Given the description of an element on the screen output the (x, y) to click on. 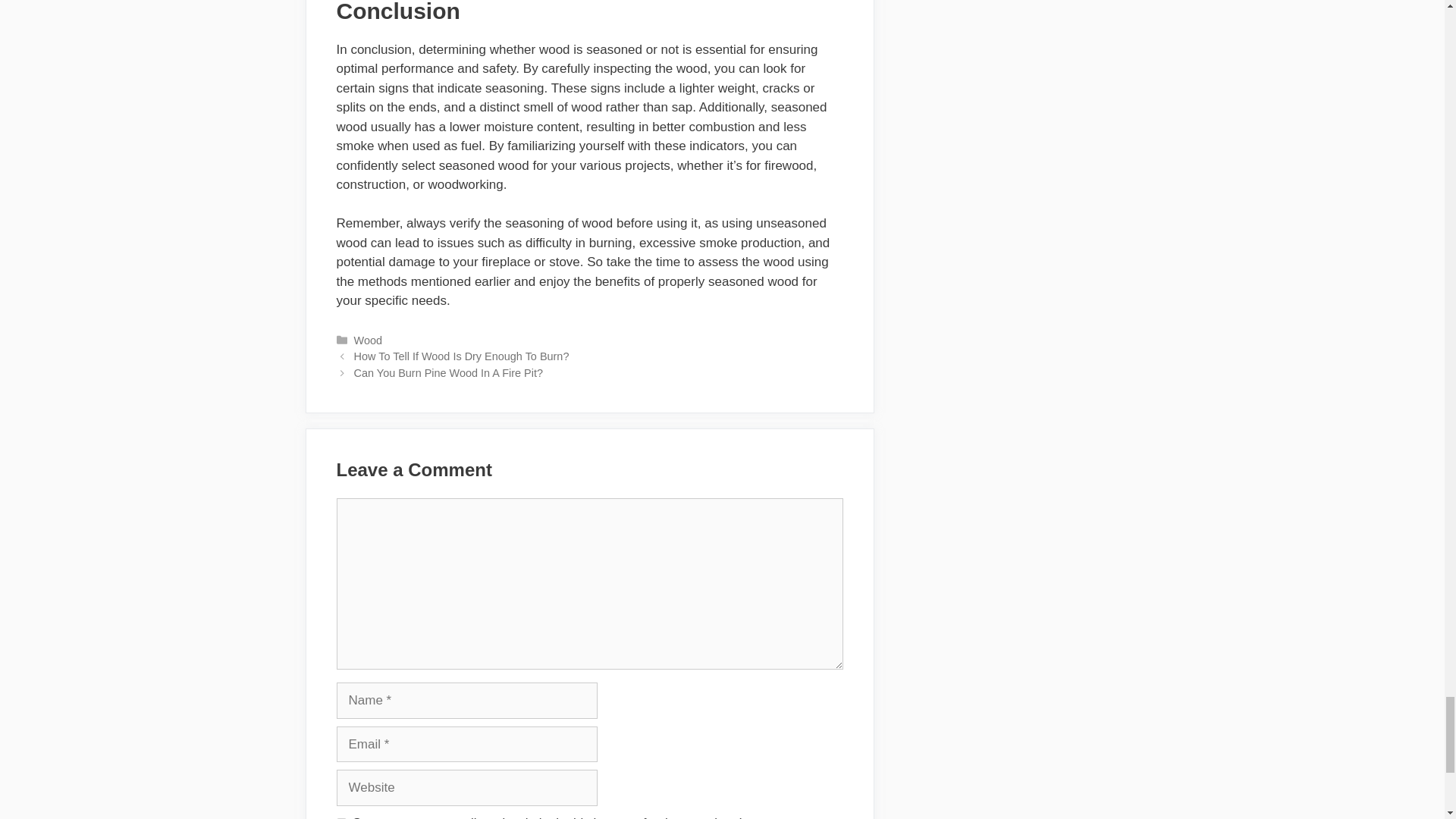
Wood (367, 340)
Can You Burn Pine Wood In A Fire Pit? (448, 372)
How To Tell If Wood Is Dry Enough To Burn? (461, 356)
